Given the description of an element on the screen output the (x, y) to click on. 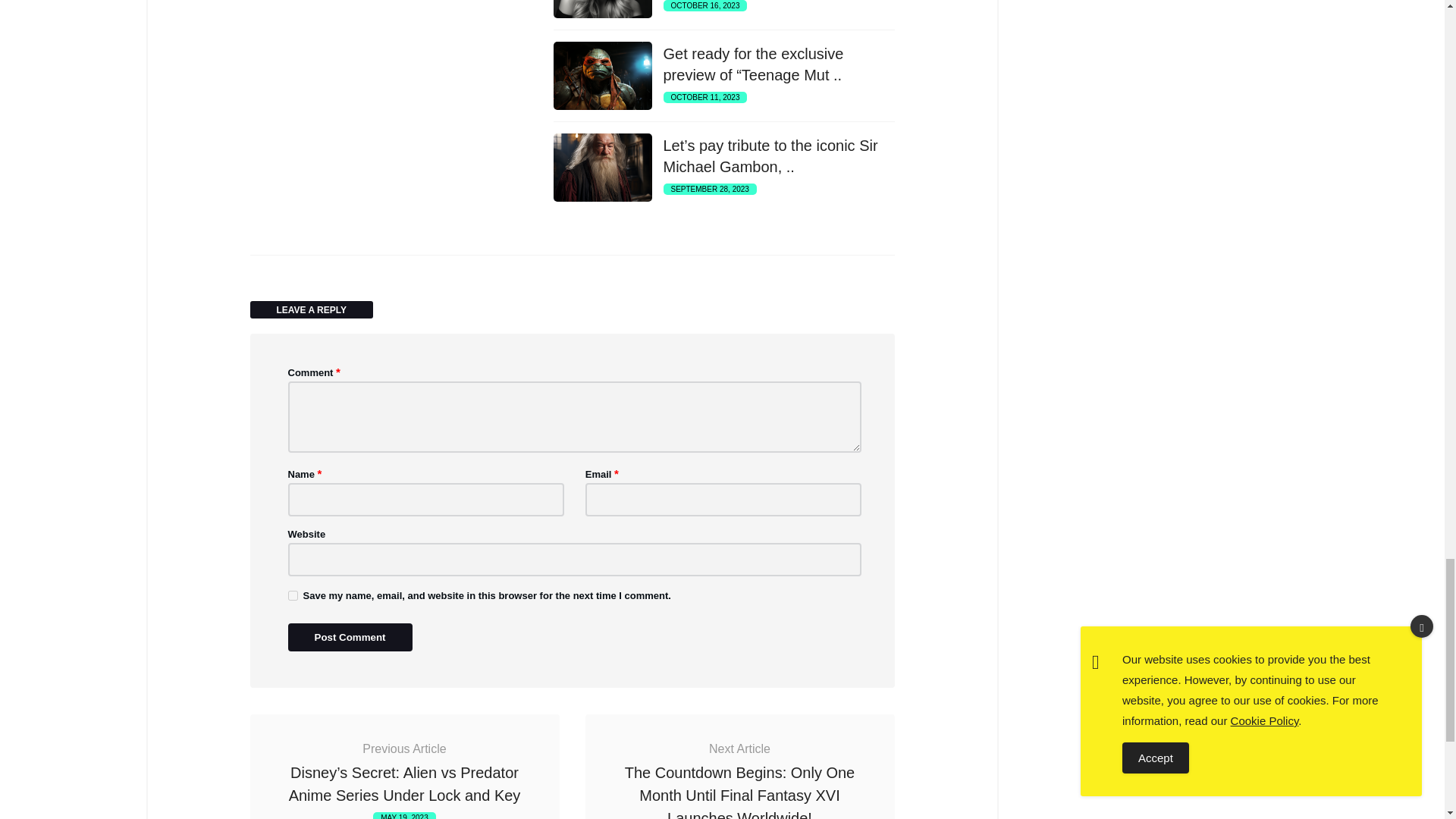
Post Comment (350, 637)
yes (293, 595)
Post Comment (350, 637)
